Given the description of an element on the screen output the (x, y) to click on. 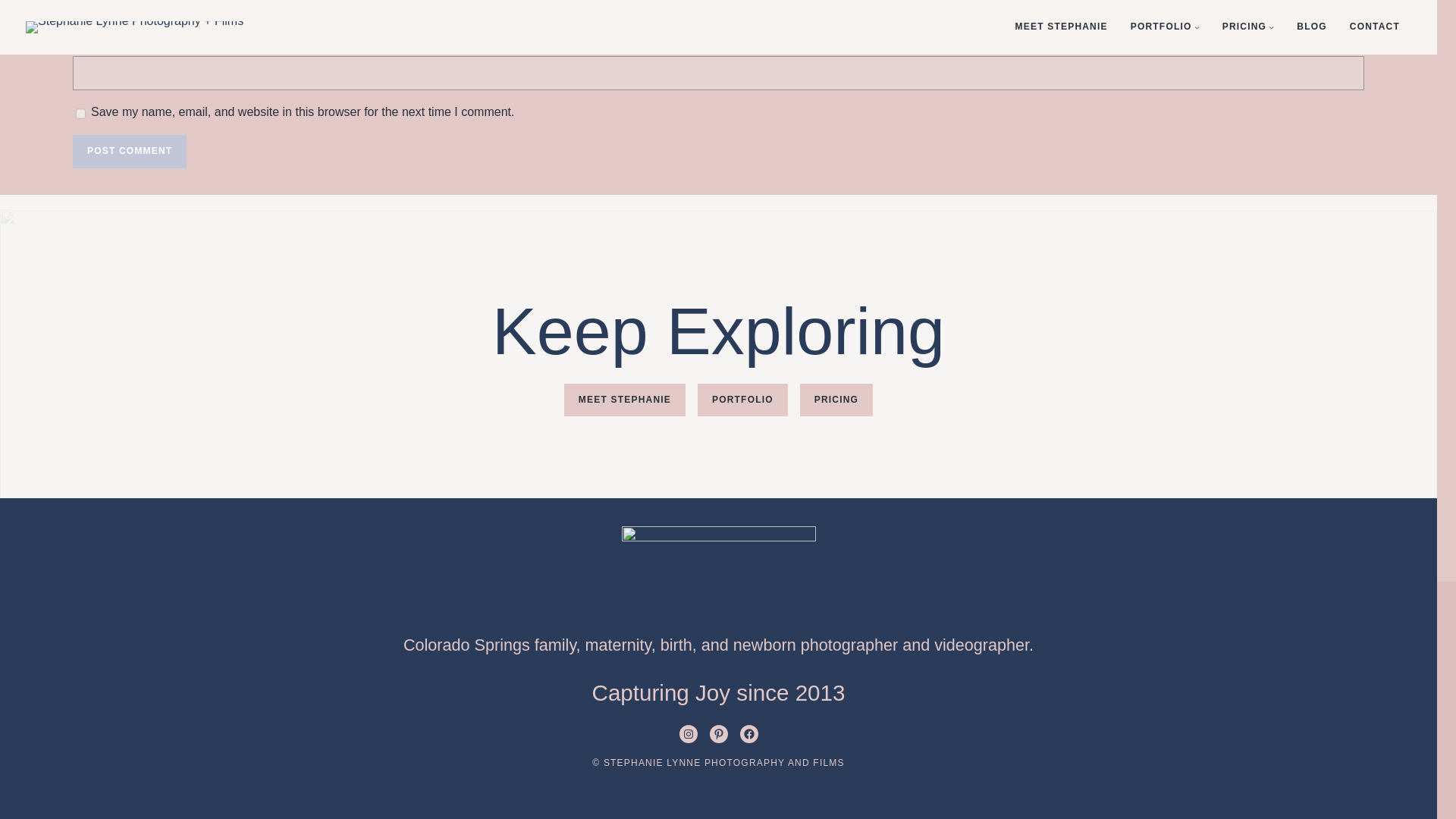
birt (671, 644)
Post Comment (129, 151)
PORTFOLIO (742, 400)
PRICING (835, 400)
family (555, 644)
MEET STEPHANIE (624, 400)
newborn (764, 644)
maternity (617, 644)
Post Comment (129, 151)
